Given the description of an element on the screen output the (x, y) to click on. 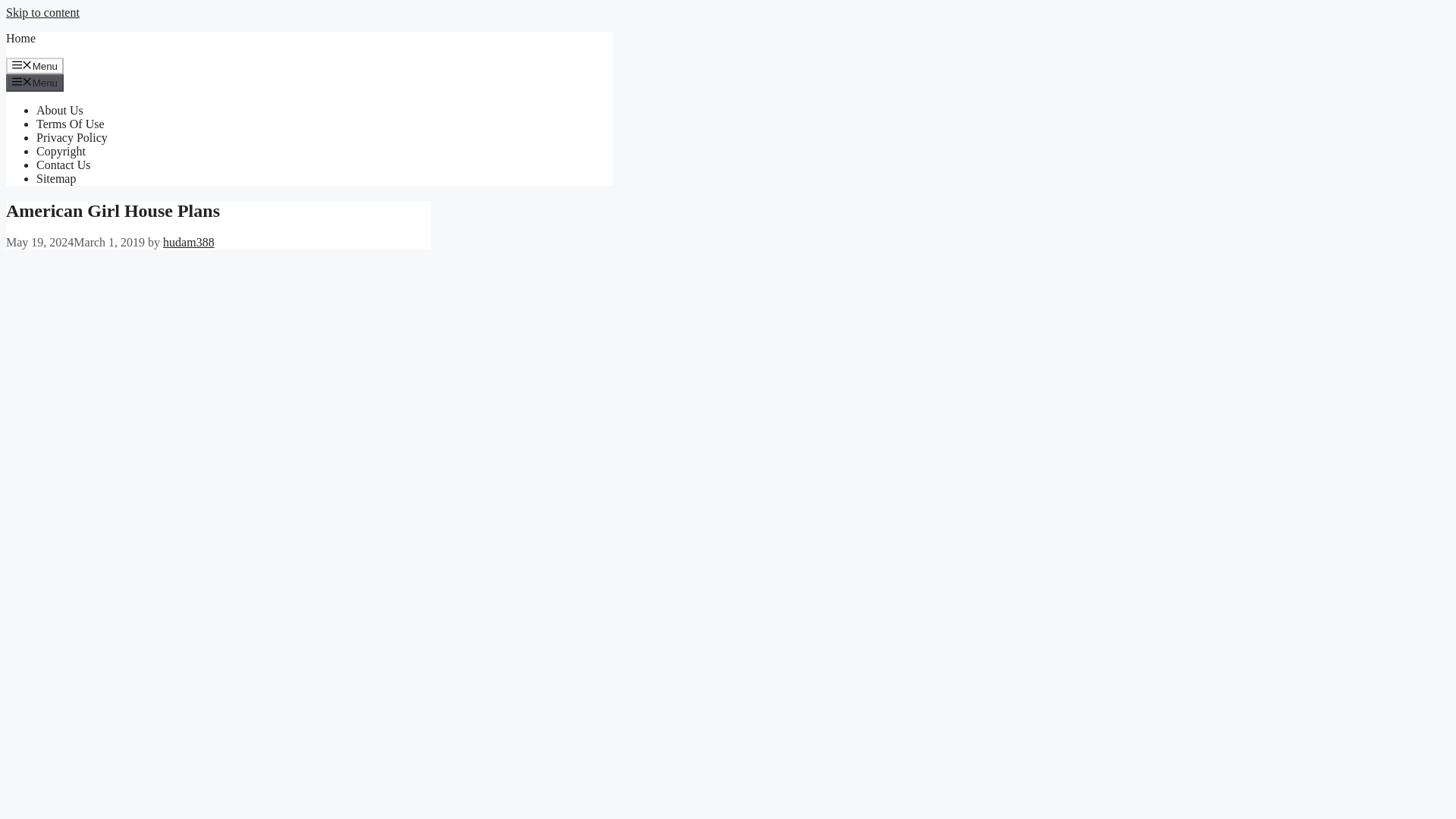
Menu (34, 82)
Copyright (60, 151)
Privacy Policy (71, 137)
Sitemap (55, 178)
Home (19, 38)
About Us (59, 110)
Skip to content (42, 11)
Menu (34, 65)
Skip to content (42, 11)
Contact Us (63, 164)
Terms Of Use (70, 123)
